Given the description of an element on the screen output the (x, y) to click on. 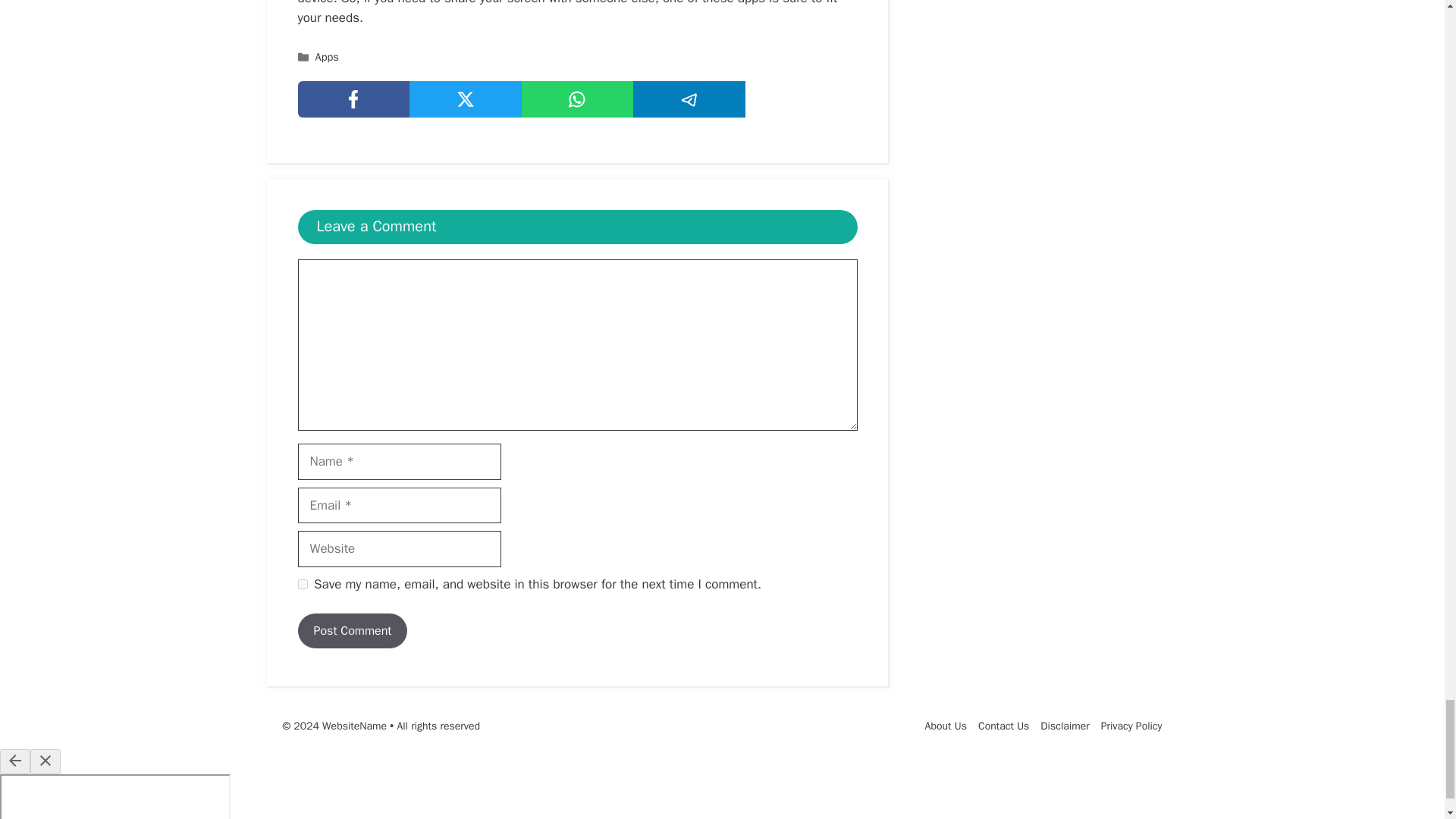
Post Comment (352, 630)
Apps (327, 56)
Post Comment (352, 630)
yes (302, 583)
